Given the description of an element on the screen output the (x, y) to click on. 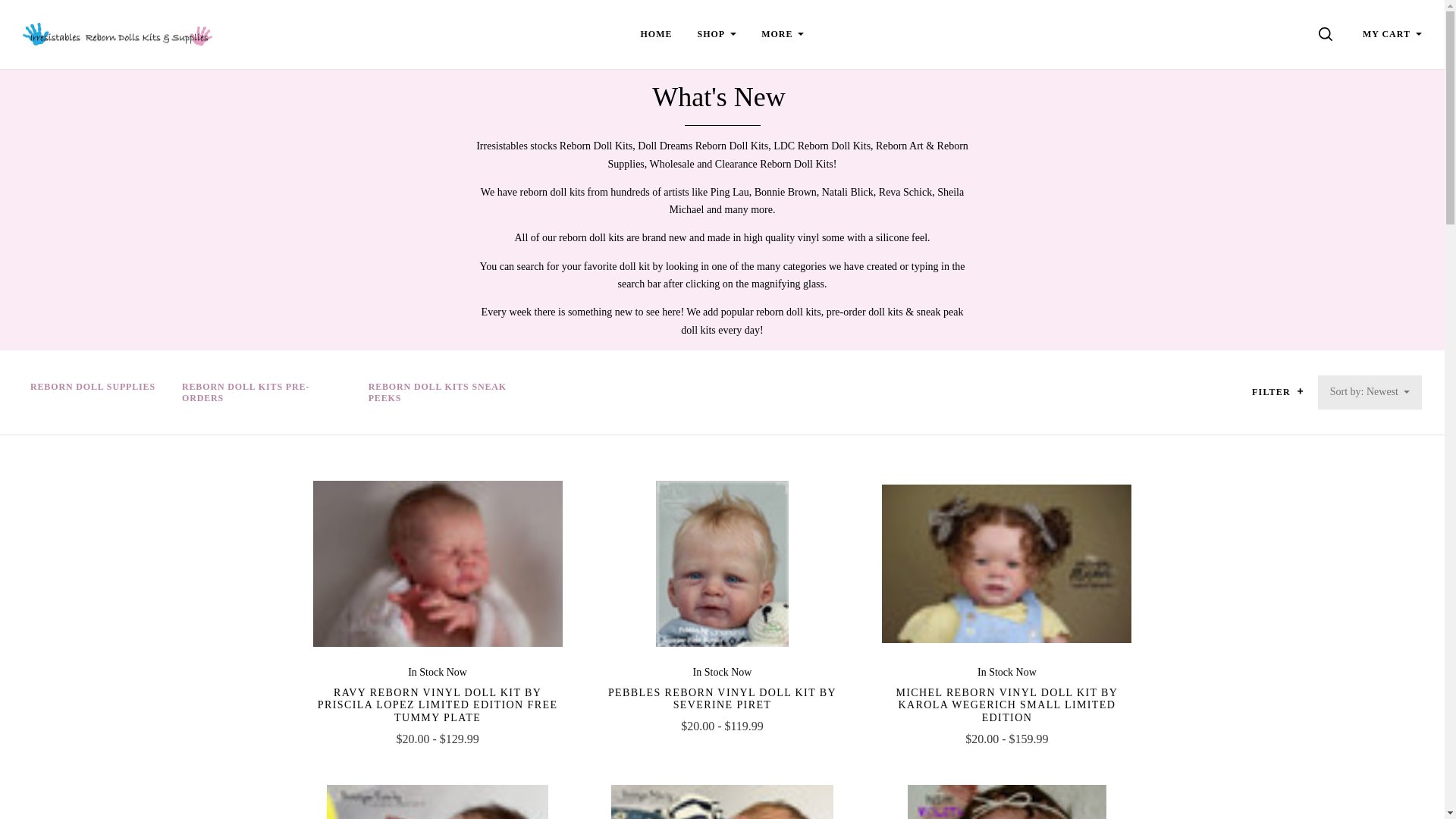
Pebbles Reborn Vinyl Doll Kit by Severine Piret (721, 563)
HOME (656, 33)
Pebbles Reborn Vinyl Doll Kit by Severine Piret (721, 699)
SHOP (716, 33)
